Given the description of an element on the screen output the (x, y) to click on. 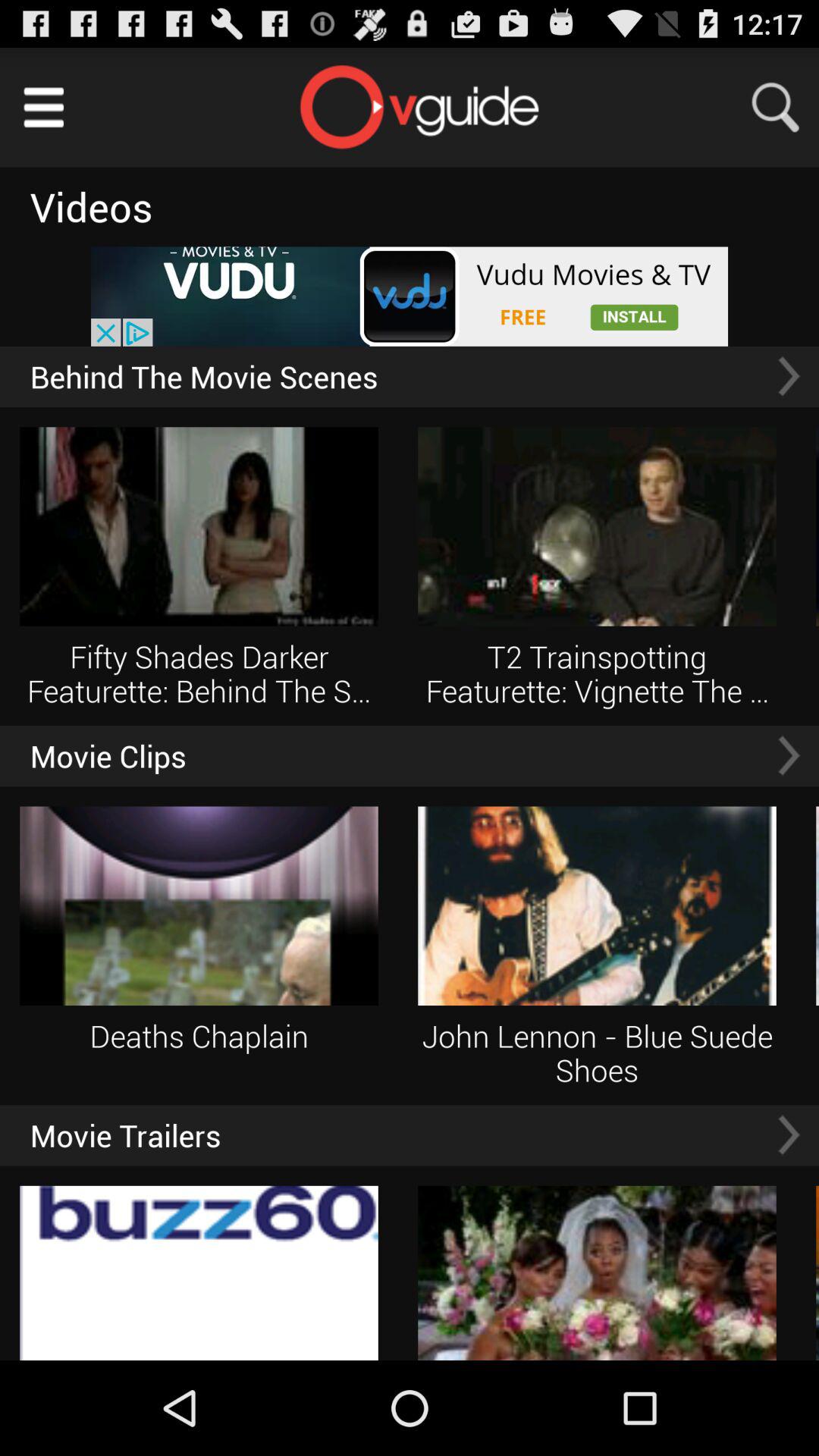
search icon (785, 107)
